Given the description of an element on the screen output the (x, y) to click on. 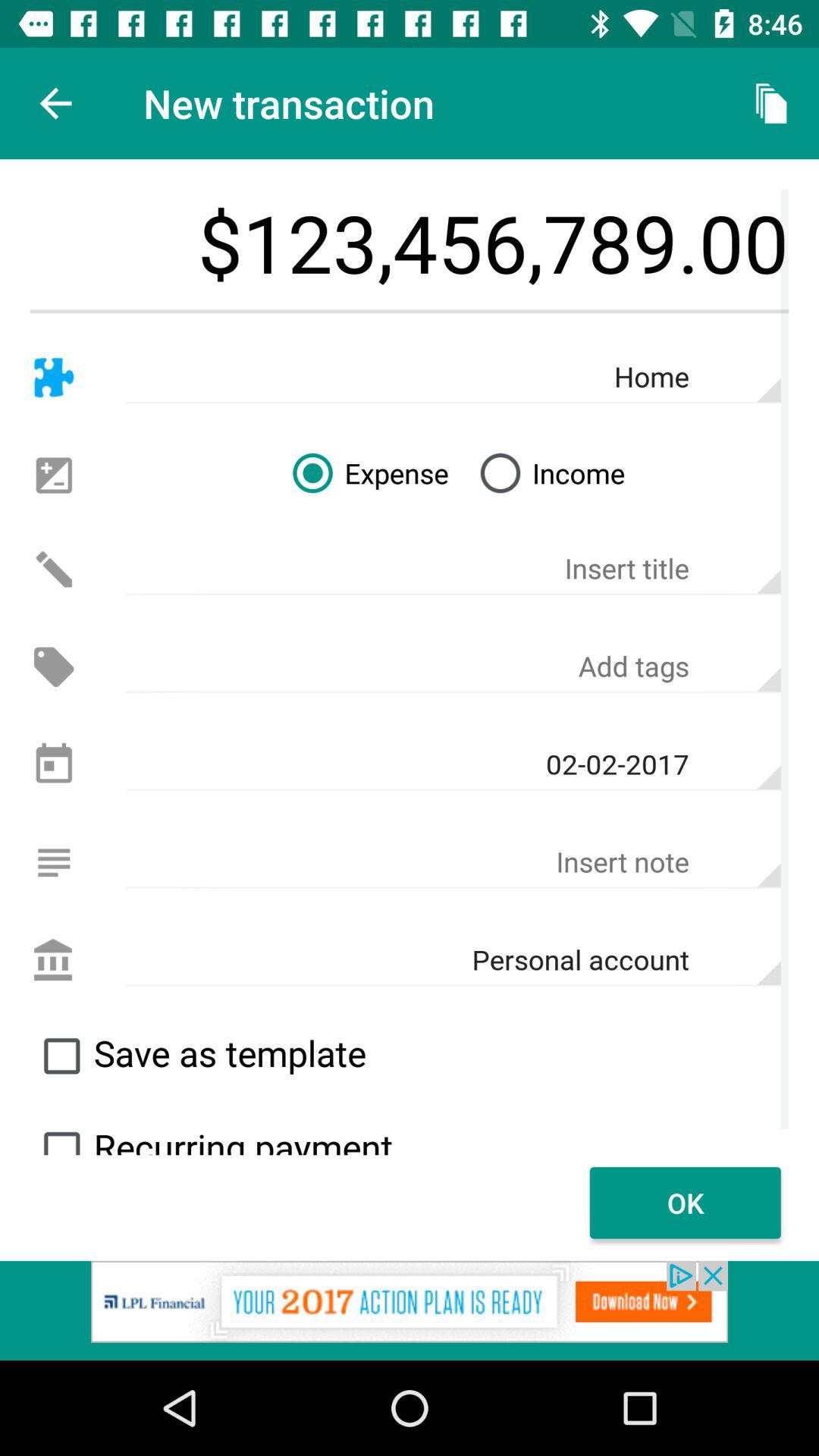
add tags (452, 666)
